Given the description of an element on the screen output the (x, y) to click on. 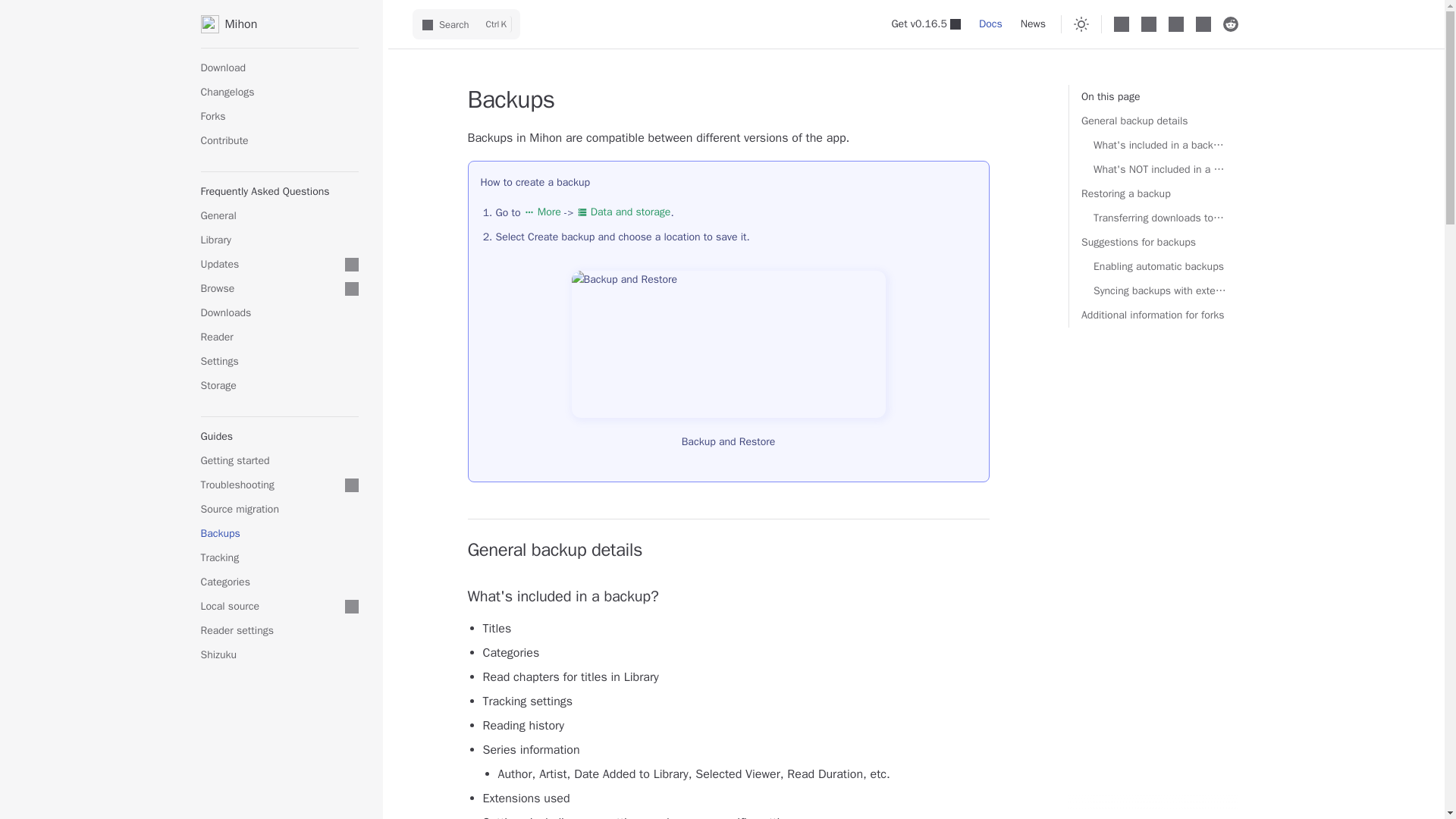
General backup details (1160, 120)
Storage (279, 385)
Syncing backups with external cloud services (1159, 291)
Download (279, 68)
Reader (279, 337)
Get v0.16.5 (925, 24)
Changelogs (279, 92)
Forks (279, 116)
Library (279, 240)
Settings (279, 361)
